Given the description of an element on the screen output the (x, y) to click on. 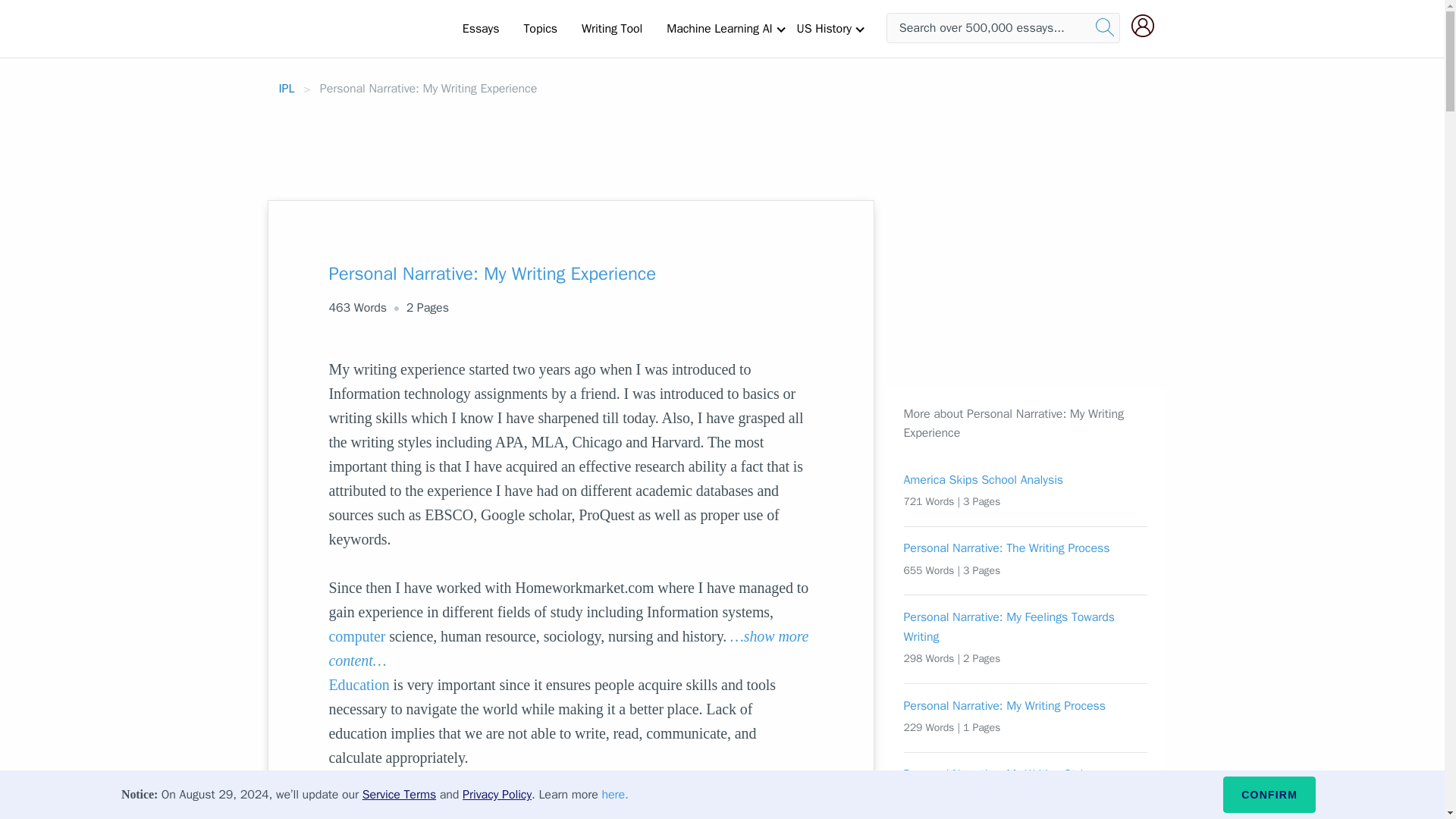
Machine Learning AI (718, 28)
Education (359, 684)
IPL (287, 88)
Topics (540, 28)
computer (357, 636)
Writing Tool (611, 28)
US History (823, 28)
Essays (480, 28)
